Given the description of an element on the screen output the (x, y) to click on. 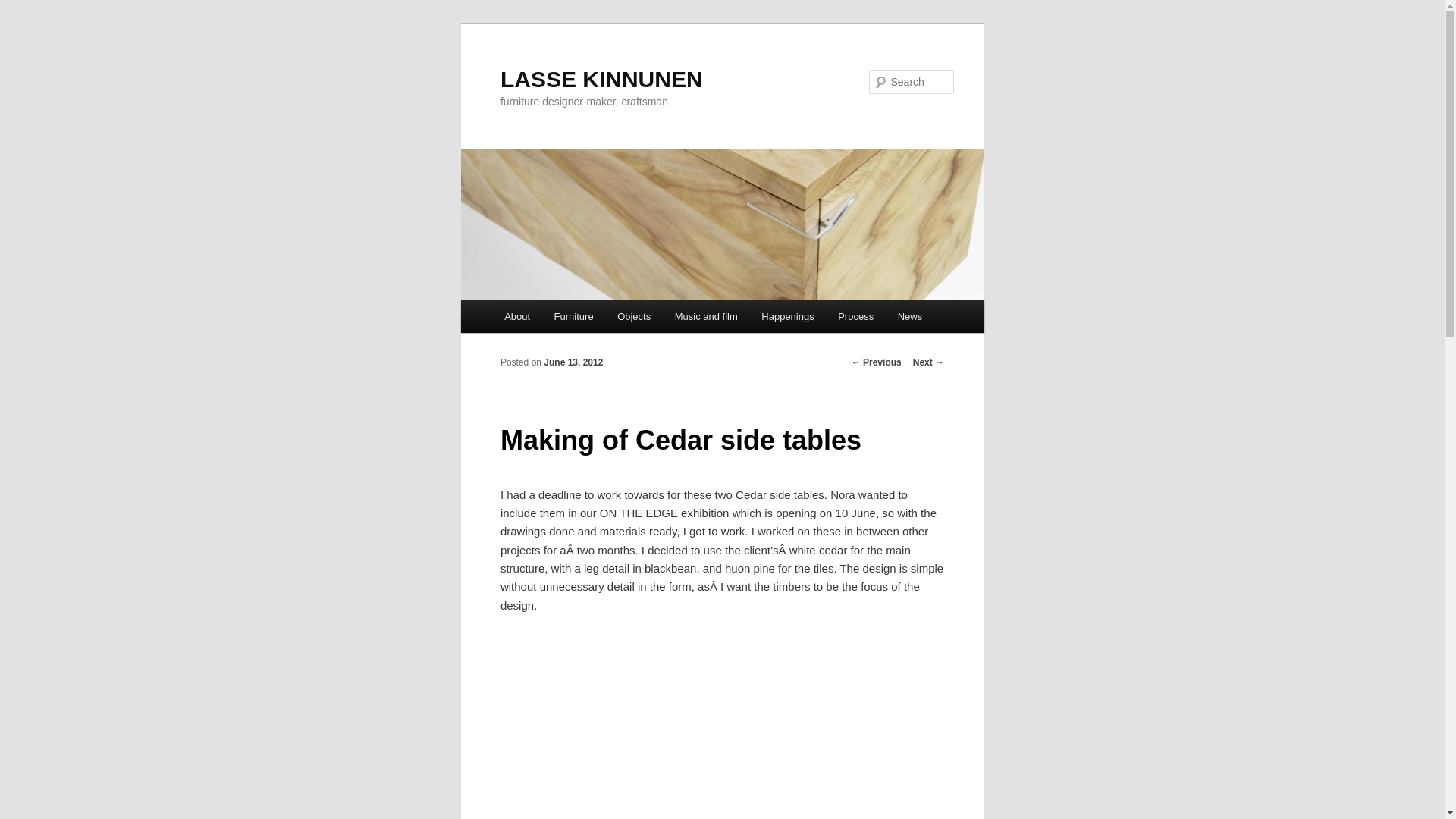
Happenings Element type: text (787, 316)
Objects Element type: text (633, 316)
Music and film Element type: text (705, 316)
Furniture Element type: text (573, 316)
Search Element type: text (24, 8)
June 13, 2012 Element type: text (572, 362)
News Element type: text (909, 316)
Skip to primary content Element type: text (22, 22)
Process Element type: text (854, 316)
About Element type: text (516, 316)
LASSE KINNUNEN Element type: text (601, 78)
